Given the description of an element on the screen output the (x, y) to click on. 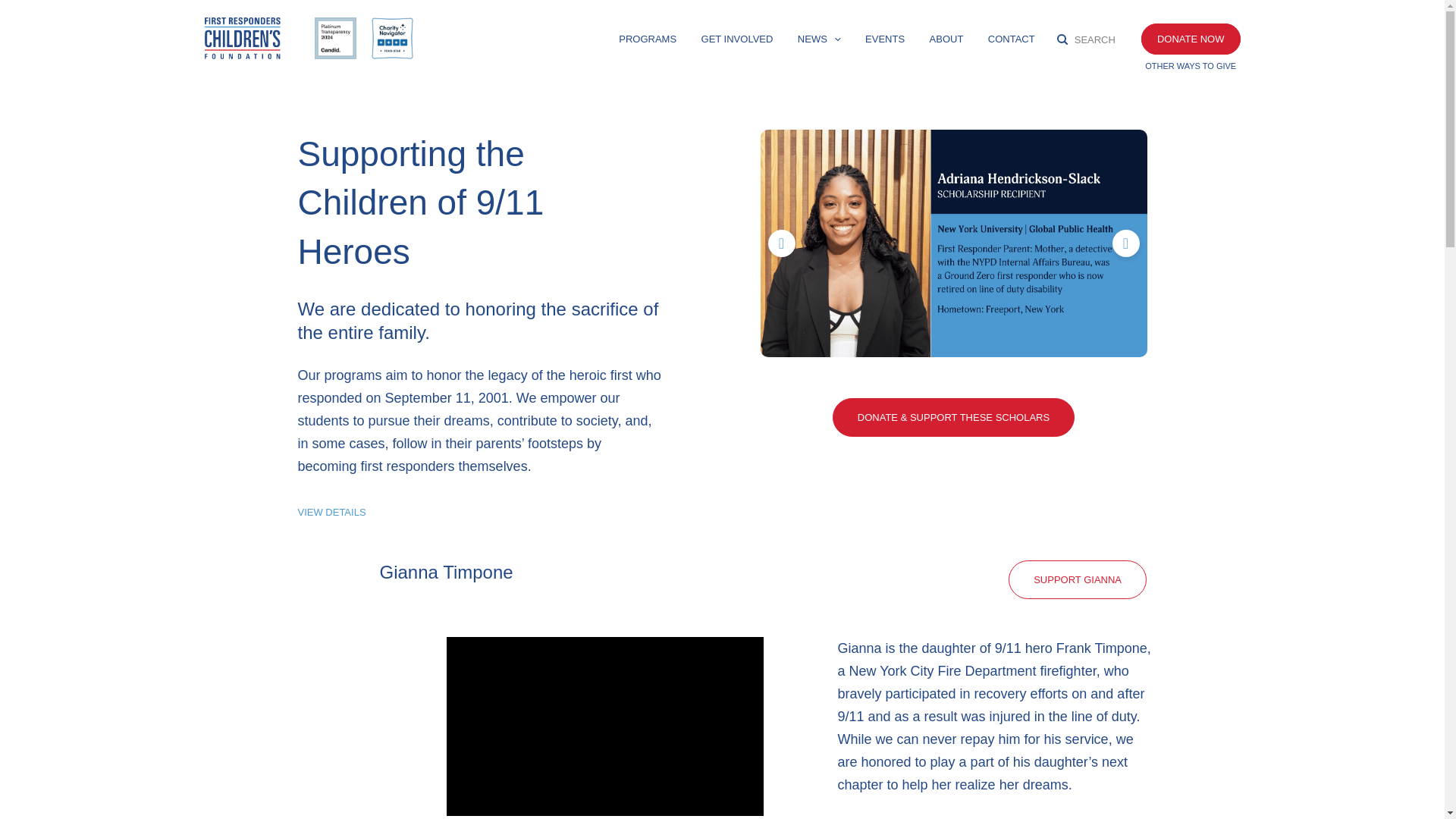
EVENTS (884, 42)
PROGRAMS (647, 42)
vimeo Video Player (603, 725)
GET INVOLVED (737, 42)
OTHER WAYS TO GIVE (1190, 65)
DONATE NOW (1190, 38)
ABOUT (946, 42)
NEWS (819, 42)
CONTACT (1011, 42)
